Given the description of an element on the screen output the (x, y) to click on. 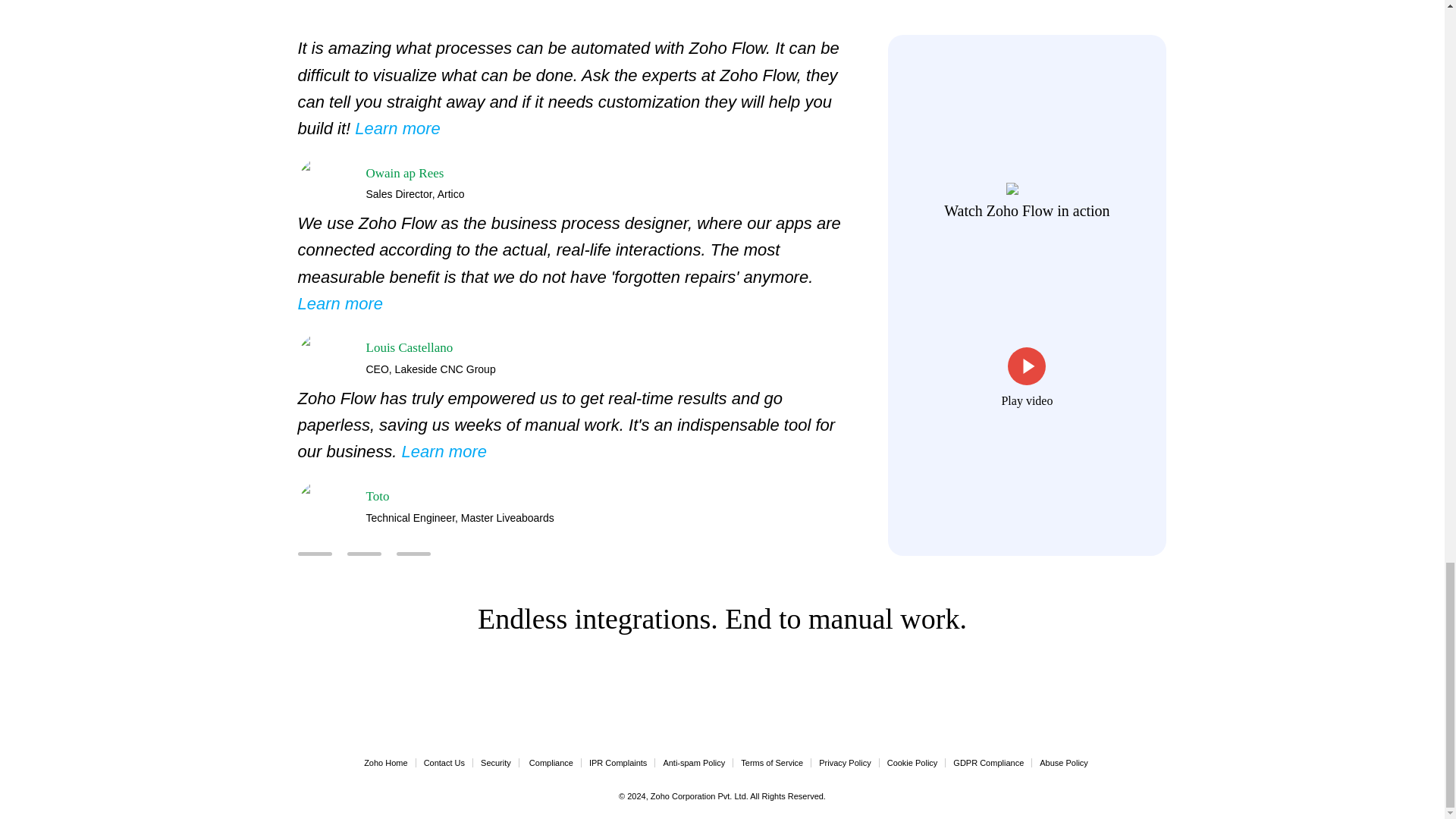
Compliance (551, 762)
Learn more (339, 303)
Learn more (398, 128)
Learn more (443, 451)
Security (495, 762)
Contact Us (443, 762)
Zoho Home (385, 762)
